Given the description of an element on the screen output the (x, y) to click on. 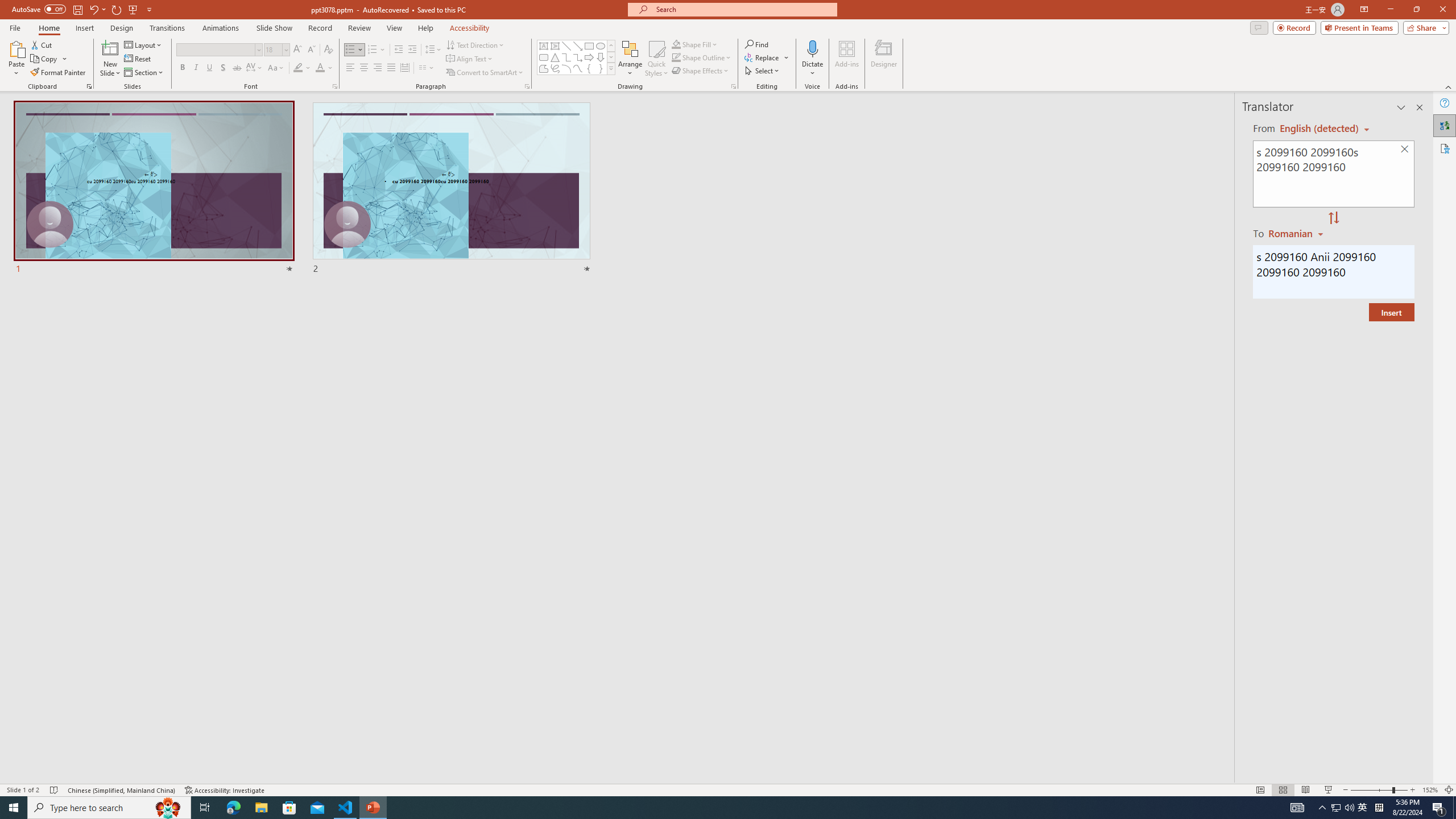
Clear text (1404, 149)
